Given the description of an element on the screen output the (x, y) to click on. 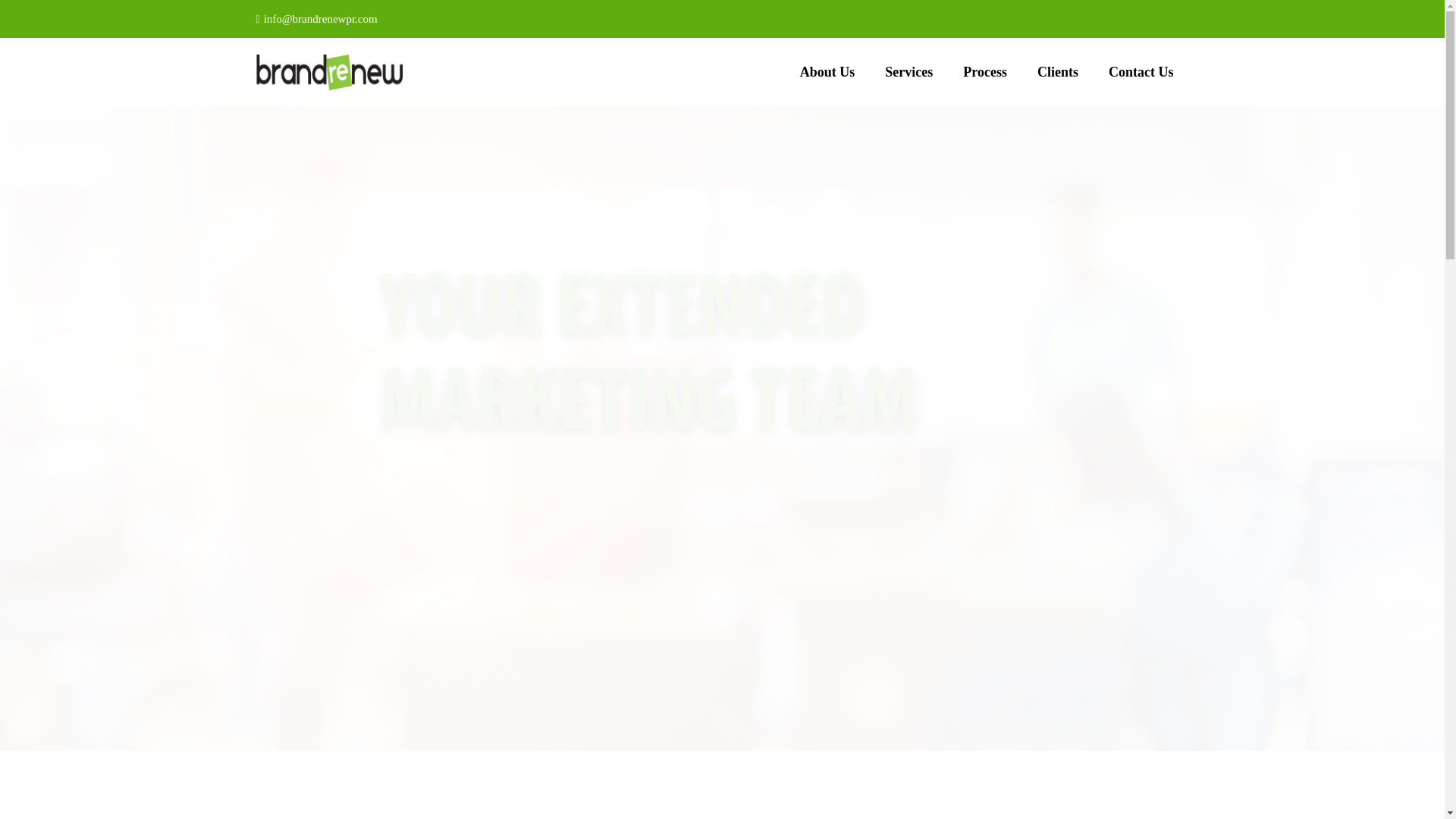
Brandrenew PR (330, 72)
Services (908, 71)
Contact Us (1141, 71)
Process (984, 71)
About Us (827, 71)
Clients (1057, 71)
